Given the description of an element on the screen output the (x, y) to click on. 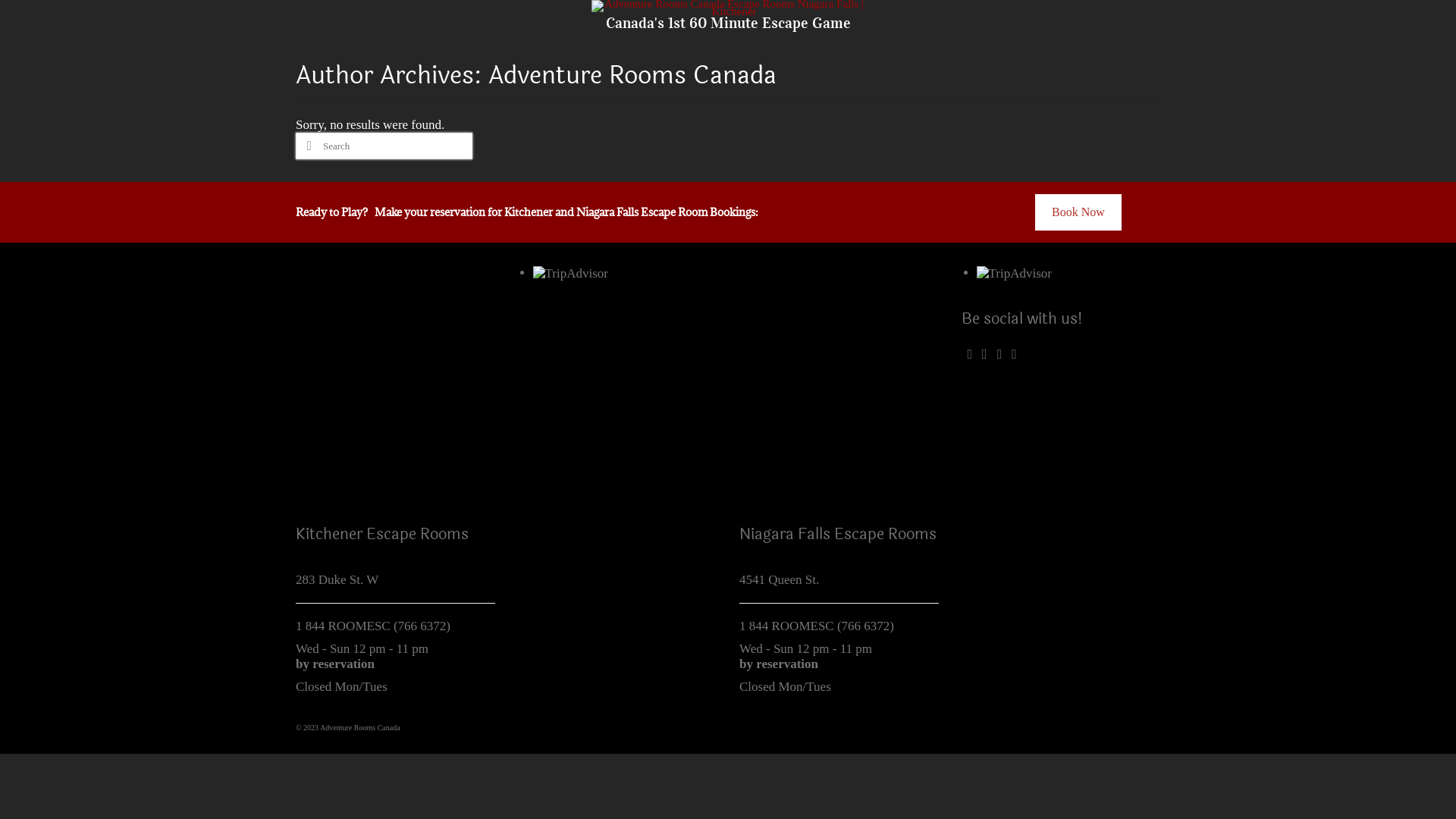
YouTube Element type: hover (1013, 353)
Facebook Element type: hover (969, 353)
by reservation Element type: text (334, 663)
1 844 ROOMESC (766 6372) Element type: text (816, 625)
Twitter Element type: hover (984, 353)
Instagram Element type: hover (999, 353)
by reservation Element type: text (778, 663)
1 844 ROOMESC (766 6372) Element type: text (372, 625)
Book Now Element type: text (1078, 212)
